Given the description of an element on the screen output the (x, y) to click on. 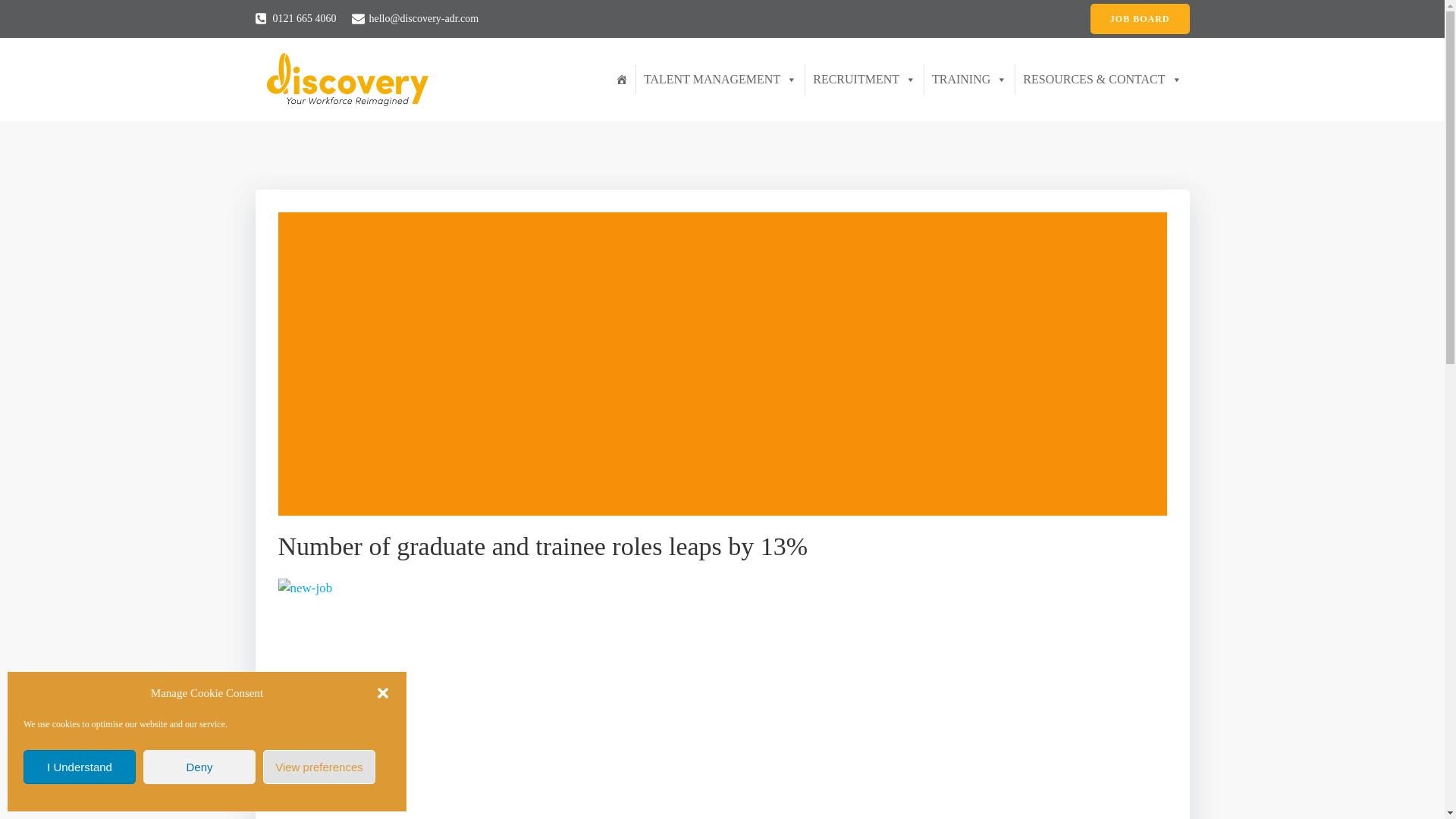
TRAINING (969, 79)
JOB BOARD (1139, 19)
TALENT MANAGEMENT (720, 79)
0121 665 4060 (295, 18)
I Understand (79, 766)
Deny (199, 766)
View preferences (319, 766)
RECRUITMENT (864, 79)
